Given the description of an element on the screen output the (x, y) to click on. 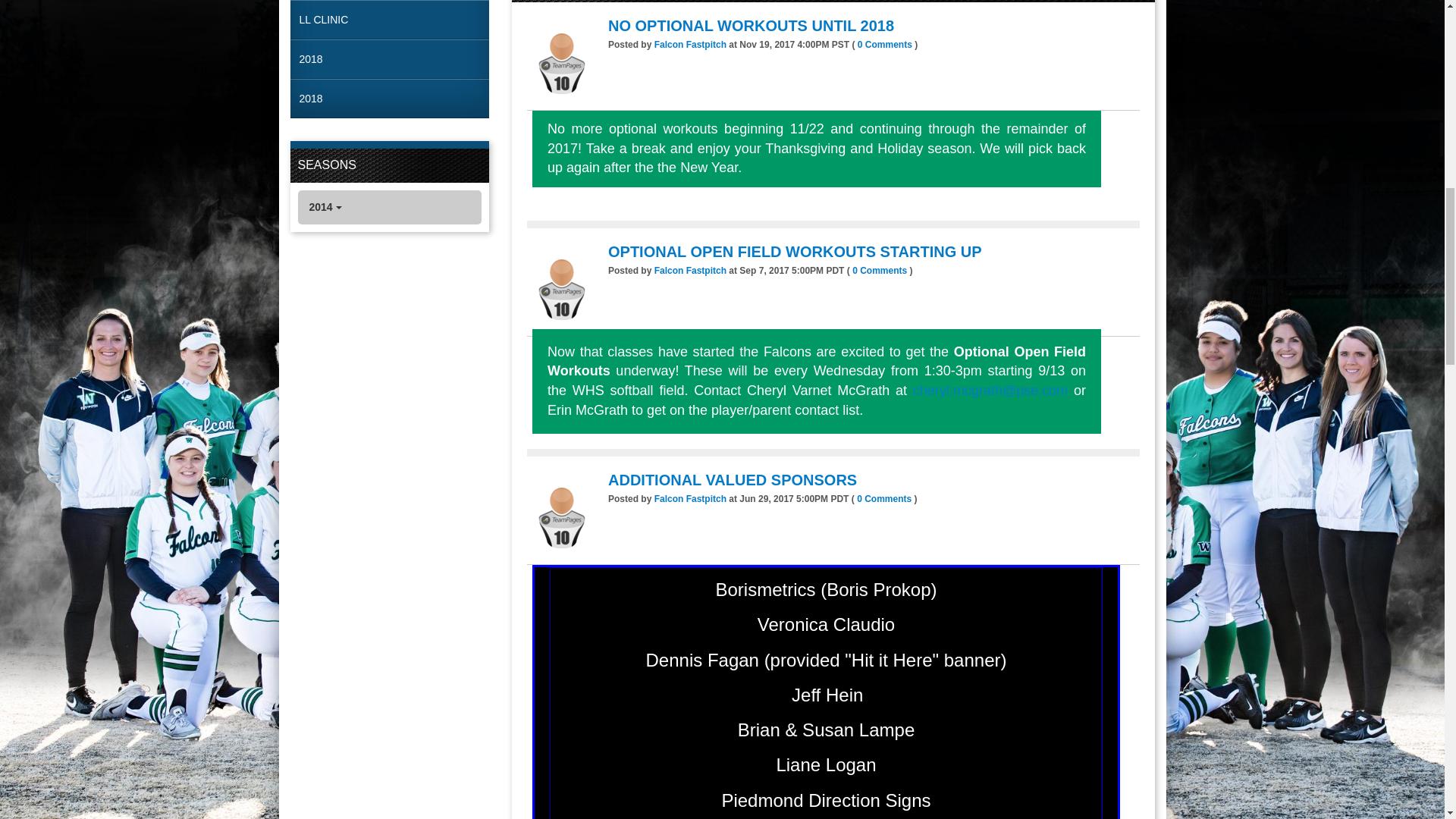
LL CLINIC (389, 19)
2014 (389, 207)
2018 (389, 58)
2018 (389, 98)
